Given the description of an element on the screen output the (x, y) to click on. 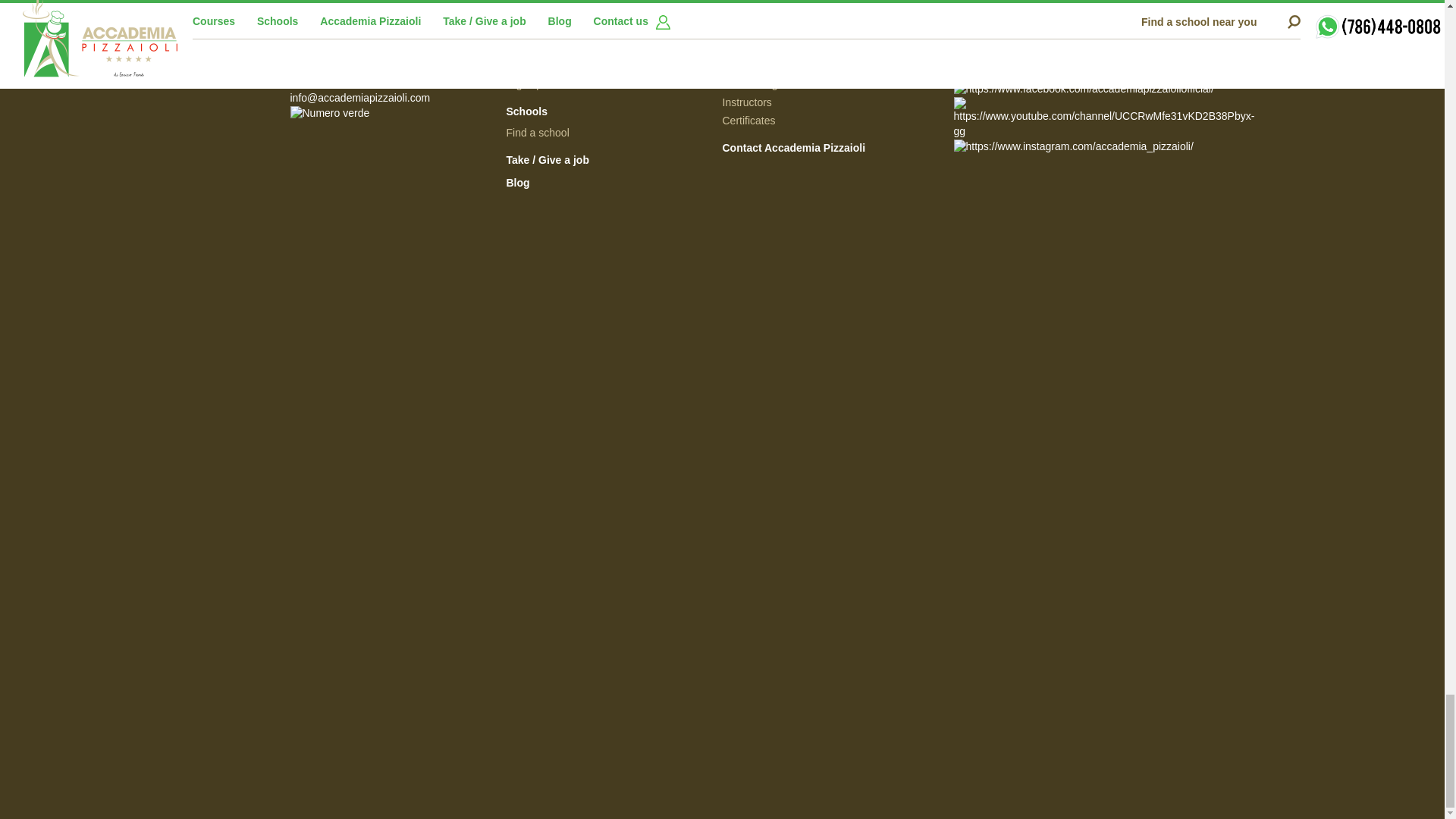
Accademia Pizzaioli (392, 45)
Course (58, 313)
Program (58, 176)
Numero verde  (392, 113)
INFORMATIONS (58, 589)
INFORMATIONS (58, 589)
Informations (58, 589)
PROGRAM (58, 176)
Courses (608, 45)
COURSE (58, 313)
